Given the description of an element on the screen output the (x, y) to click on. 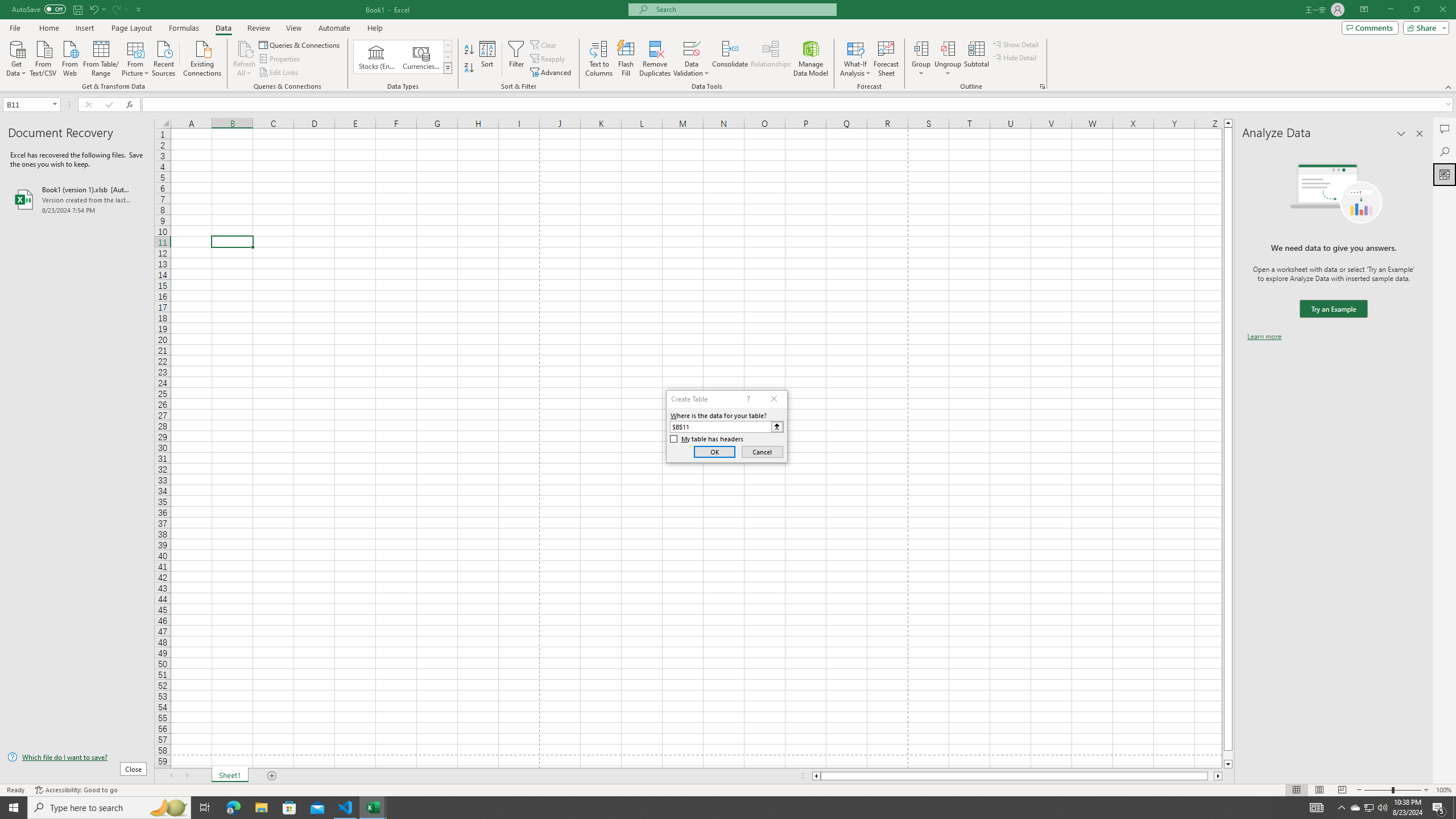
From Picture (135, 57)
Consolidate... (729, 58)
